Given the description of an element on the screen output the (x, y) to click on. 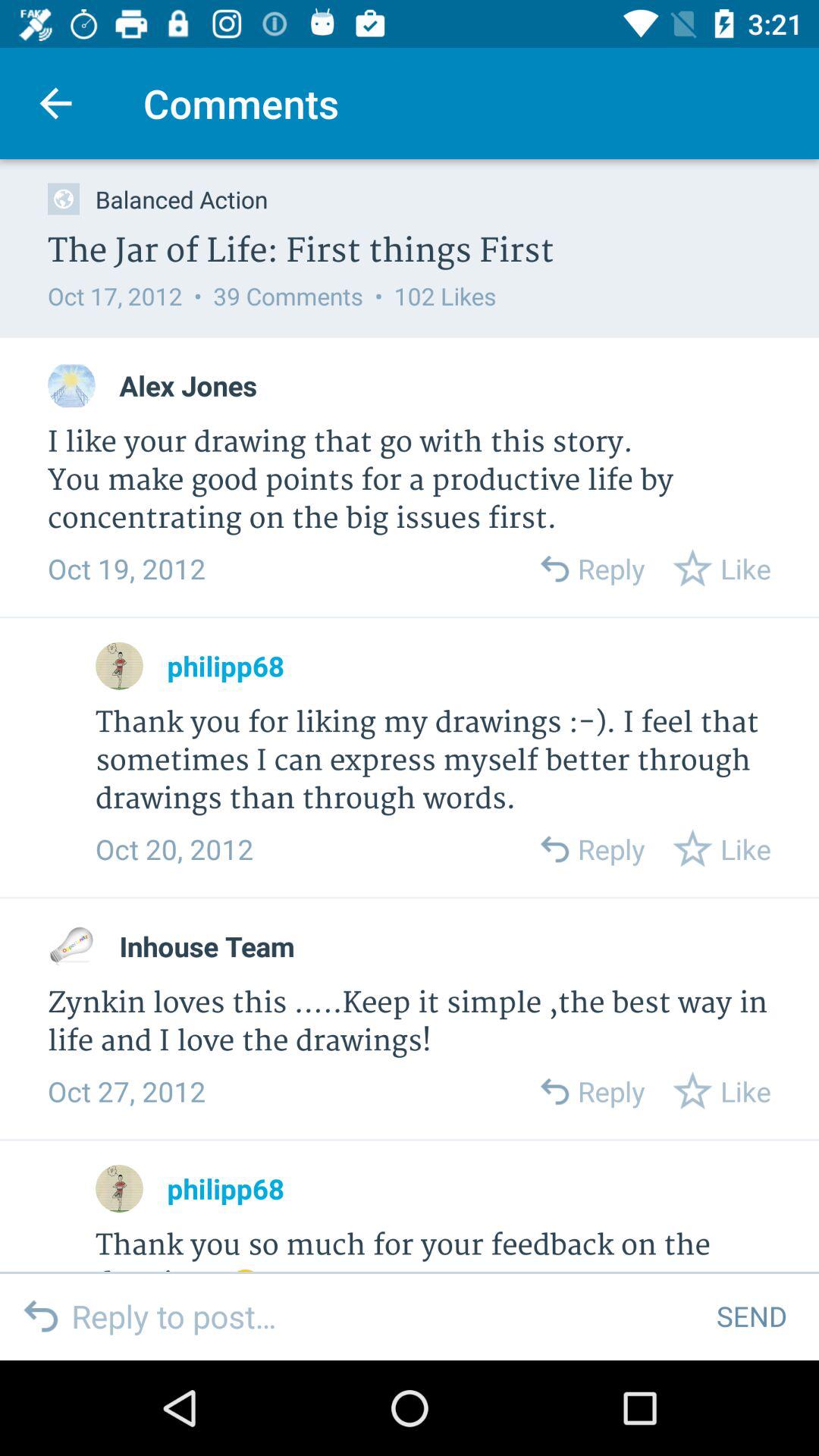
flip until zynkin loves this (409, 1022)
